Given the description of an element on the screen output the (x, y) to click on. 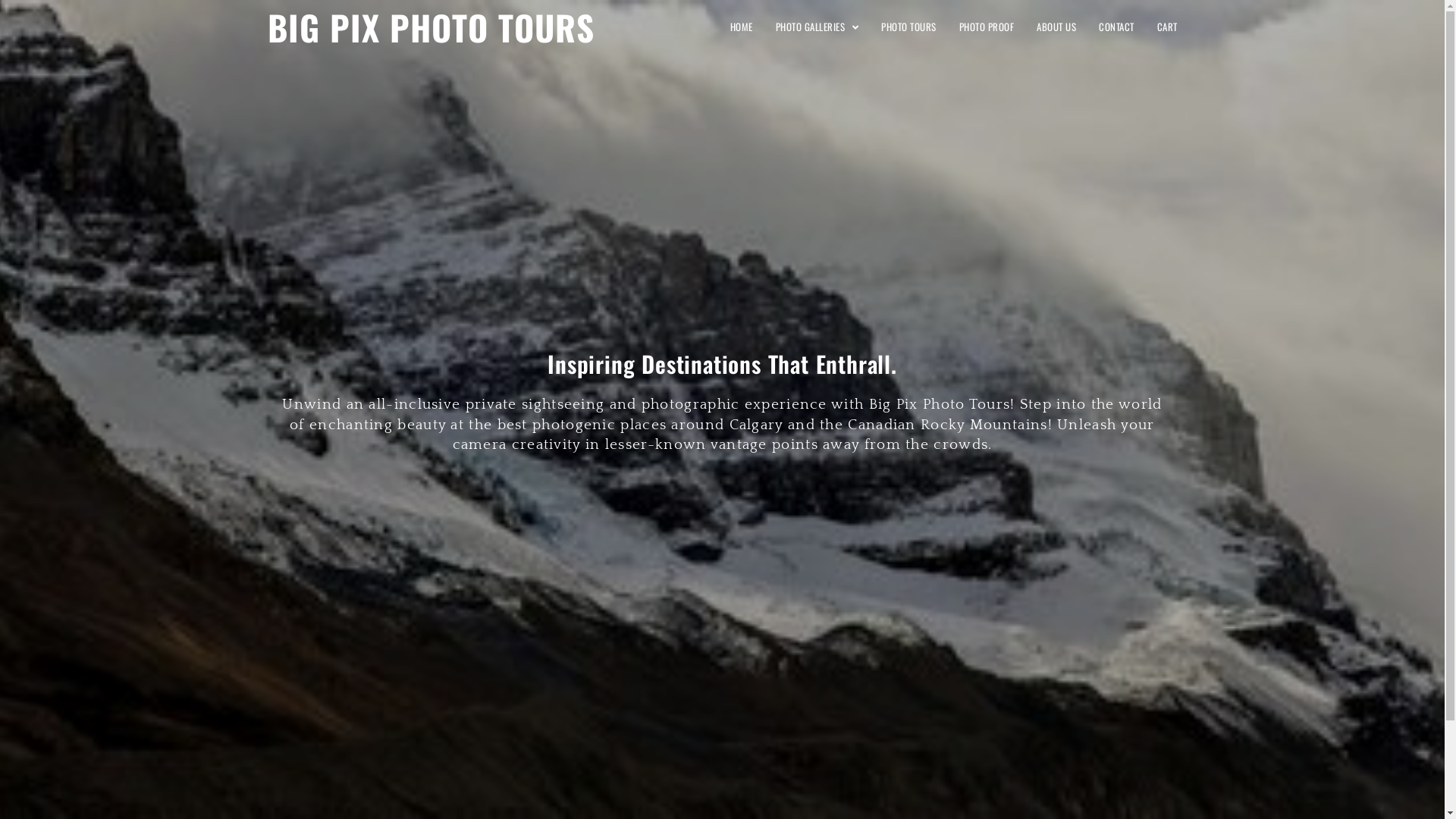
PHOTO GALLERIES Element type: text (817, 26)
CART Element type: text (1166, 26)
PHOTO PROOF Element type: text (986, 26)
ABOUT US Element type: text (1056, 26)
CONTACT Element type: text (1116, 26)
BIG PIX PHOTO TOURS Element type: text (429, 26)
HOME Element type: text (741, 26)
PHOTO TOURS Element type: text (908, 26)
